Given the description of an element on the screen output the (x, y) to click on. 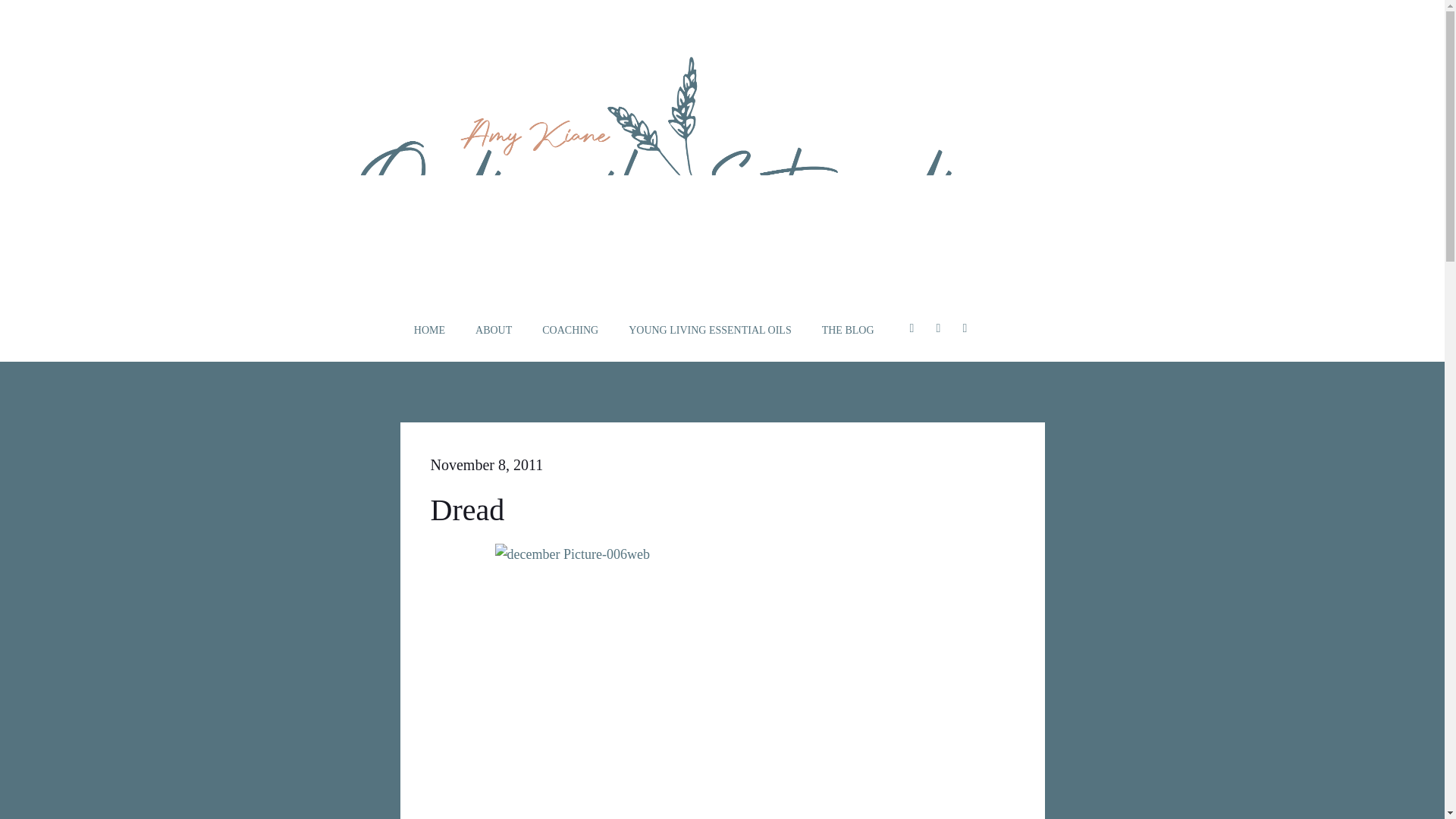
THE BLOG (848, 330)
YOUNG LIVING ESSENTIAL OILS (710, 330)
COACHING (569, 330)
ABOUT (494, 330)
HOME (429, 330)
